Given the description of an element on the screen output the (x, y) to click on. 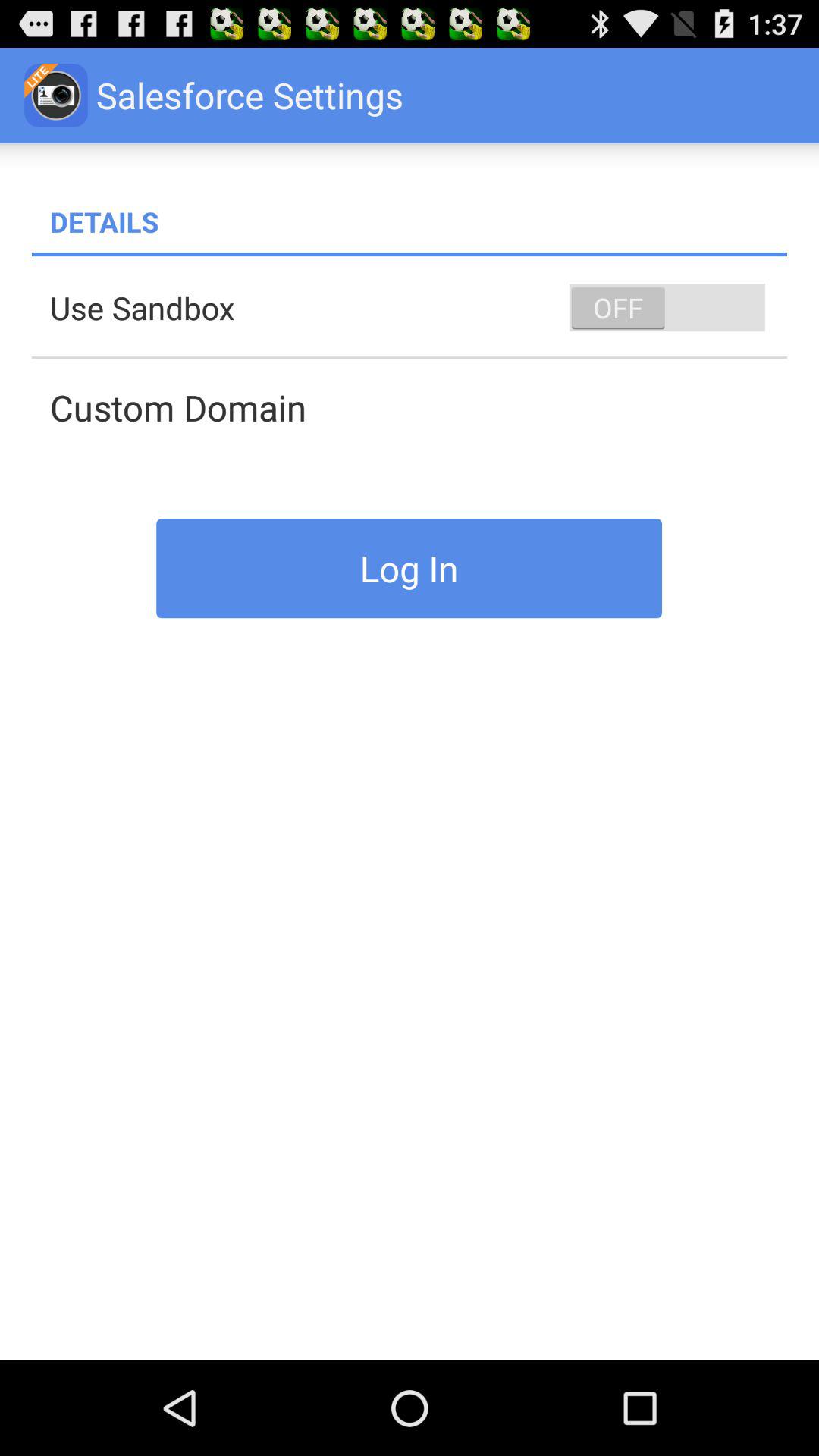
flip until custom domain item (418, 407)
